Given the description of an element on the screen output the (x, y) to click on. 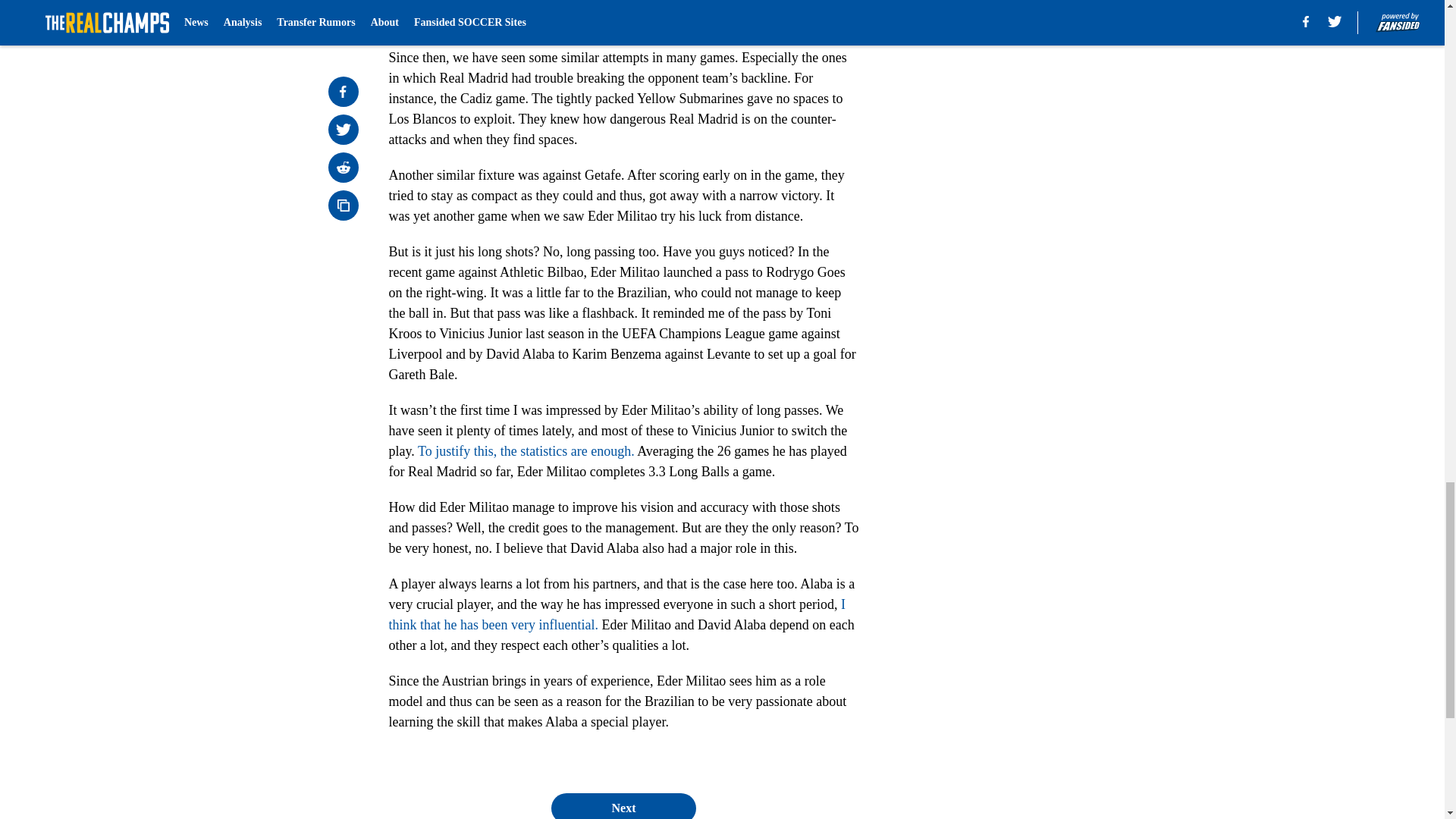
Next (622, 806)
To justify this, the statistics are enough. (525, 450)
I think that he has been very influential. (616, 614)
